Given the description of an element on the screen output the (x, y) to click on. 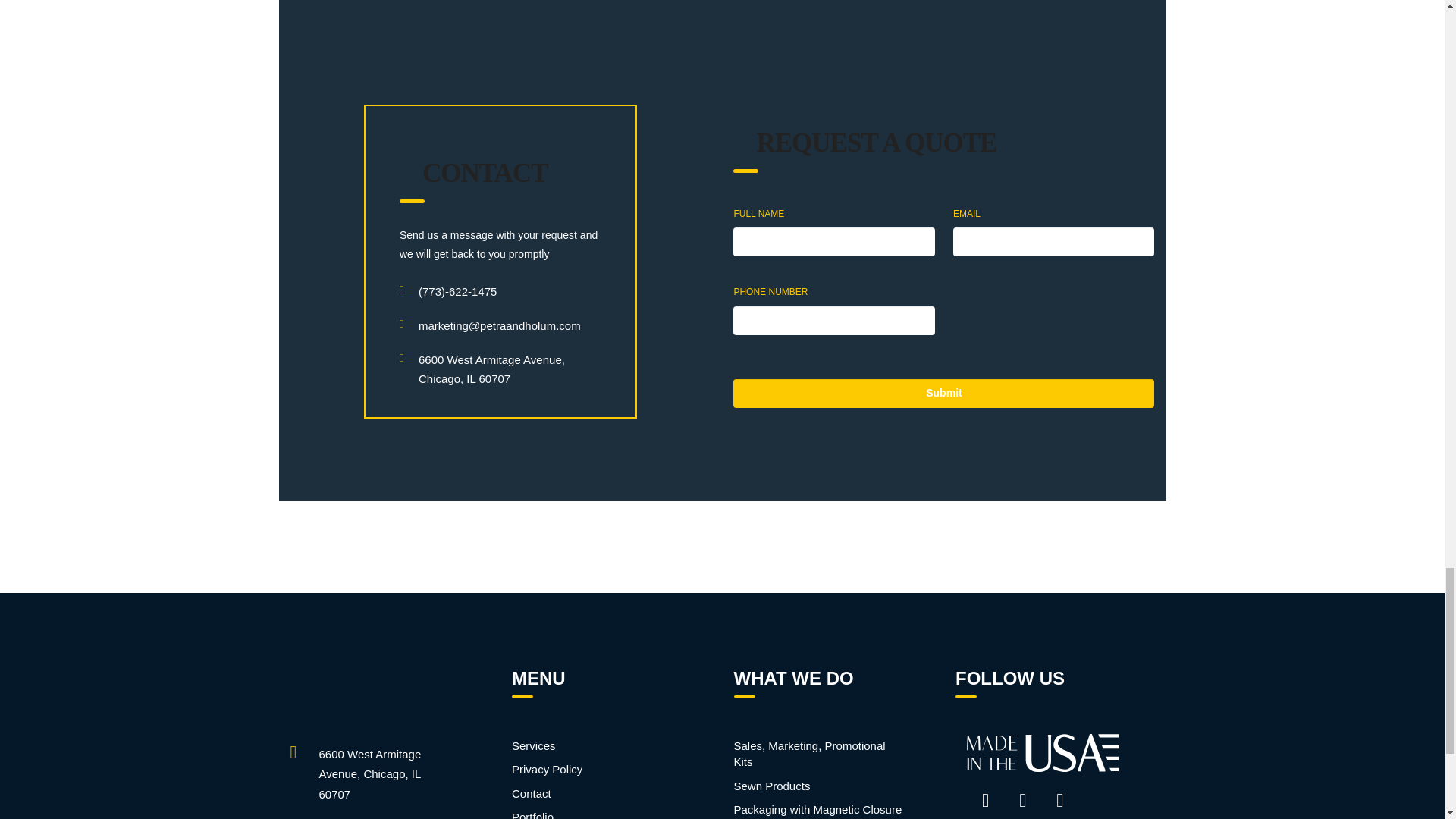
Packaging with Magnetic Closure (820, 809)
Sewn Products (820, 785)
Services (598, 745)
Submit (943, 393)
Privacy Policy (598, 769)
Submit (943, 393)
Portfolio (598, 814)
Sales, Marketing, Promotional Kits (820, 753)
Contact (598, 793)
